Given the description of an element on the screen output the (x, y) to click on. 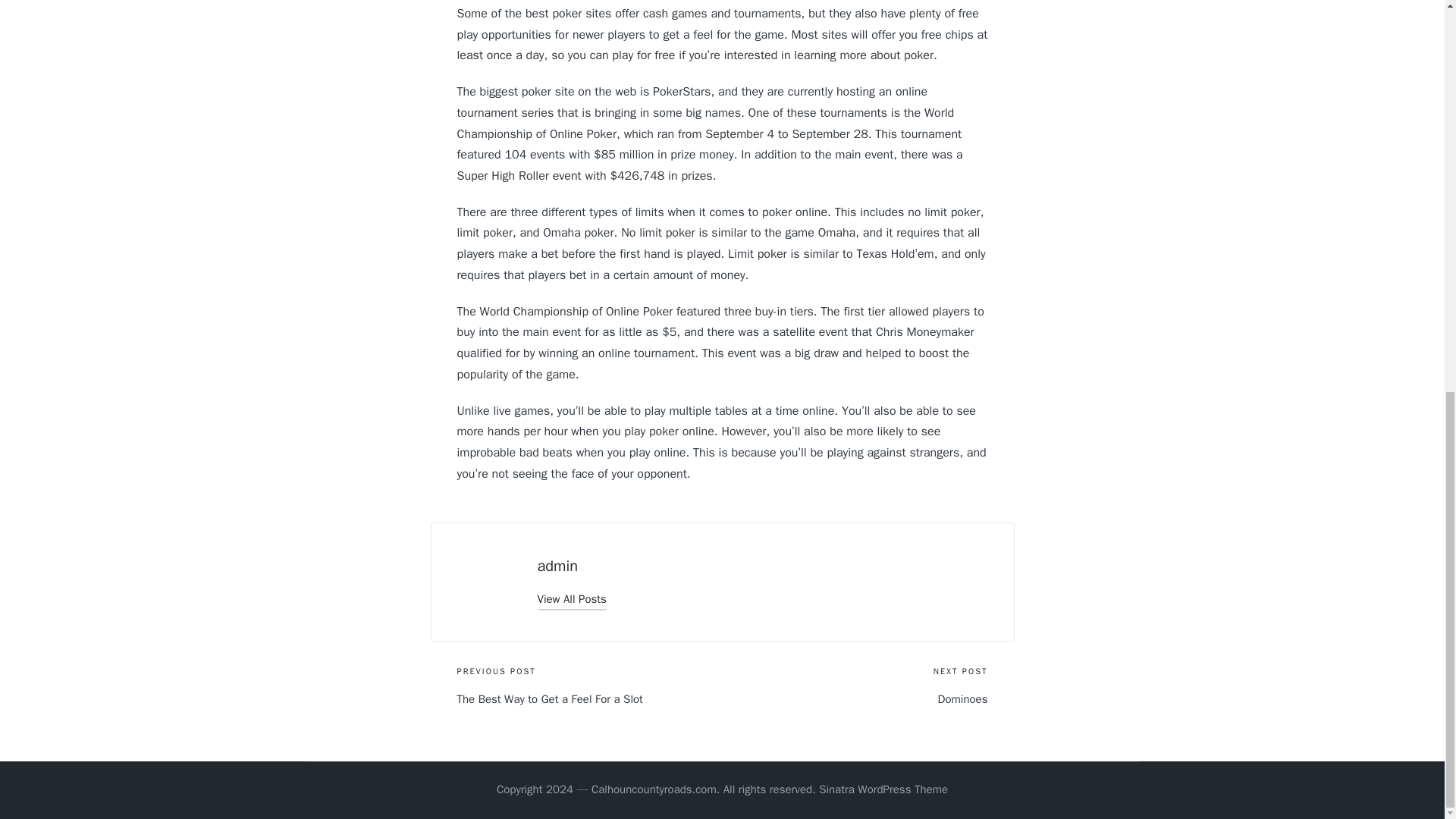
admin (557, 565)
Sinatra WordPress Theme (882, 790)
The Best Way to Get a Feel For a Slot (589, 699)
Dominoes (854, 699)
View All Posts (571, 598)
